Given the description of an element on the screen output the (x, y) to click on. 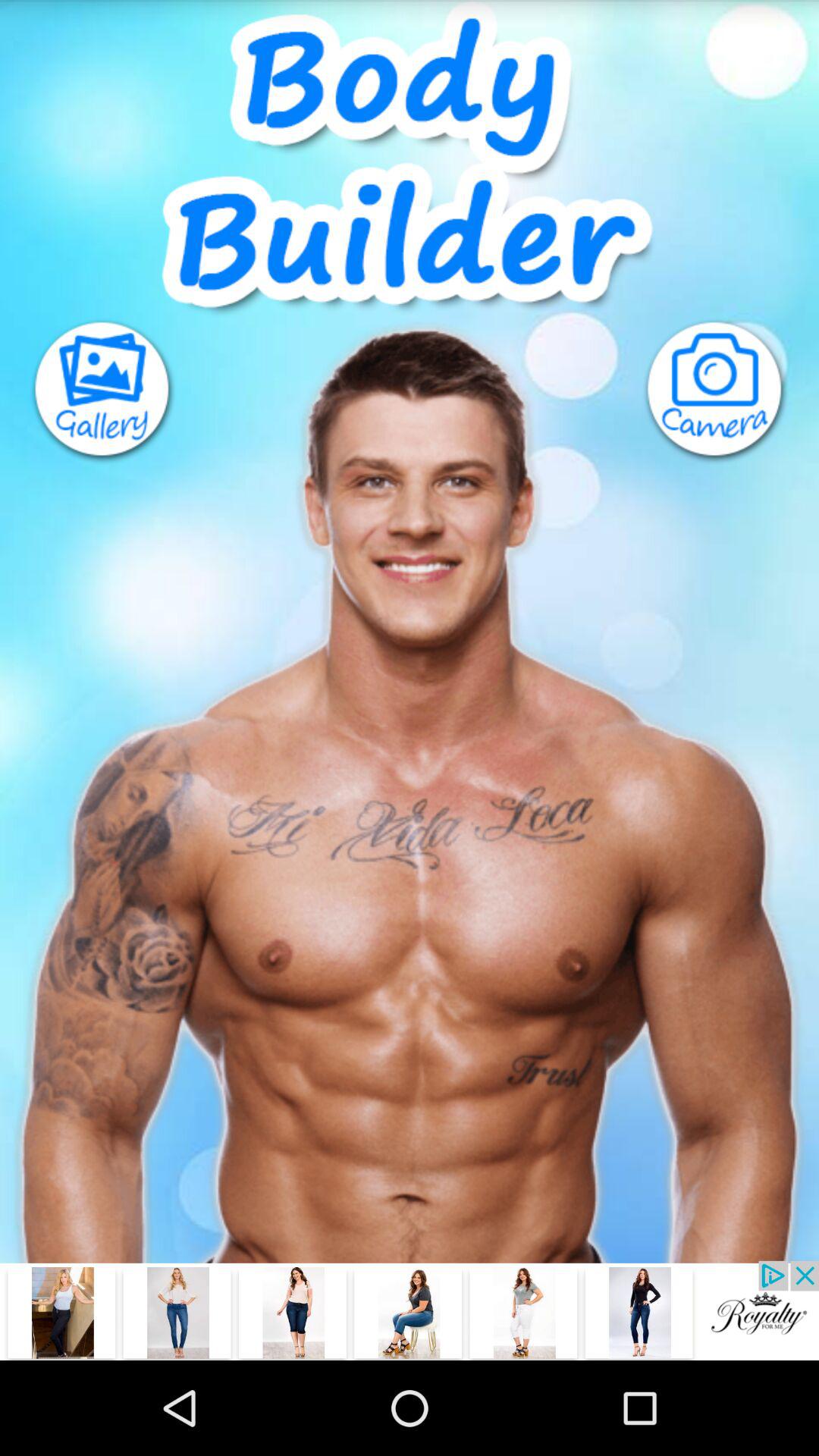
take a photo (730, 391)
